Given the description of an element on the screen output the (x, y) to click on. 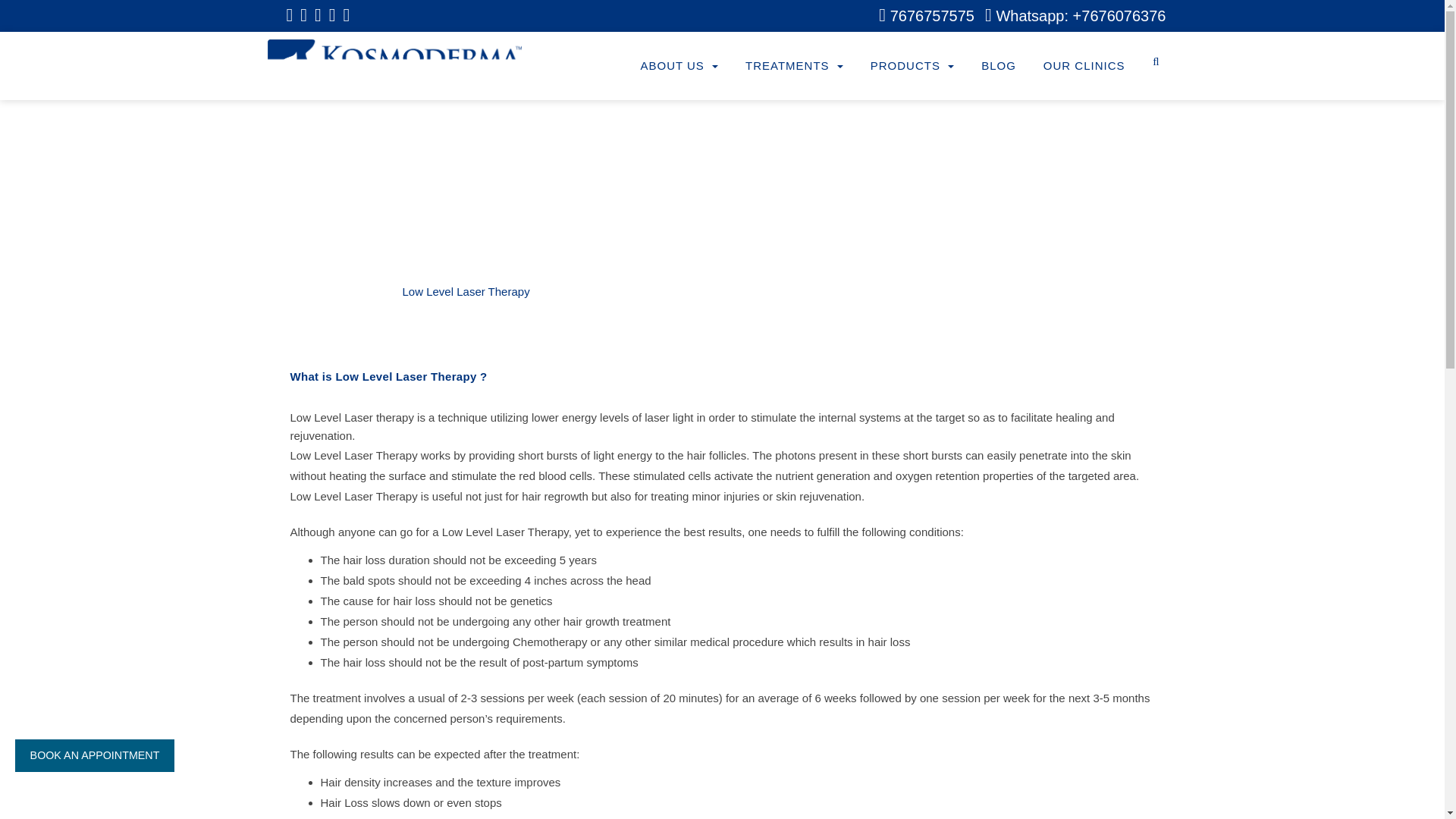
TREATMENTS (794, 65)
ABOUT US (679, 65)
7676757575 (926, 15)
